Given the description of an element on the screen output the (x, y) to click on. 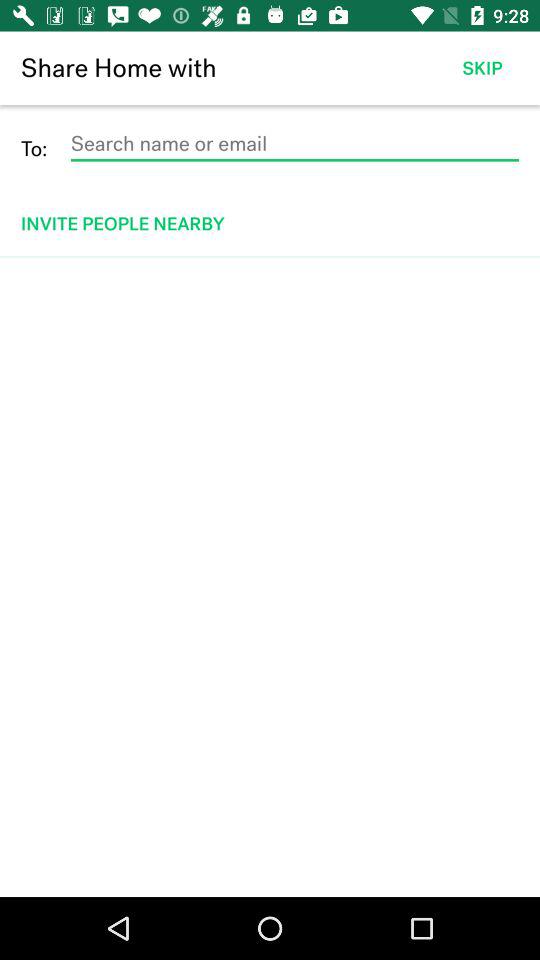
jump until invite people nearby (272, 223)
